Given the description of an element on the screen output the (x, y) to click on. 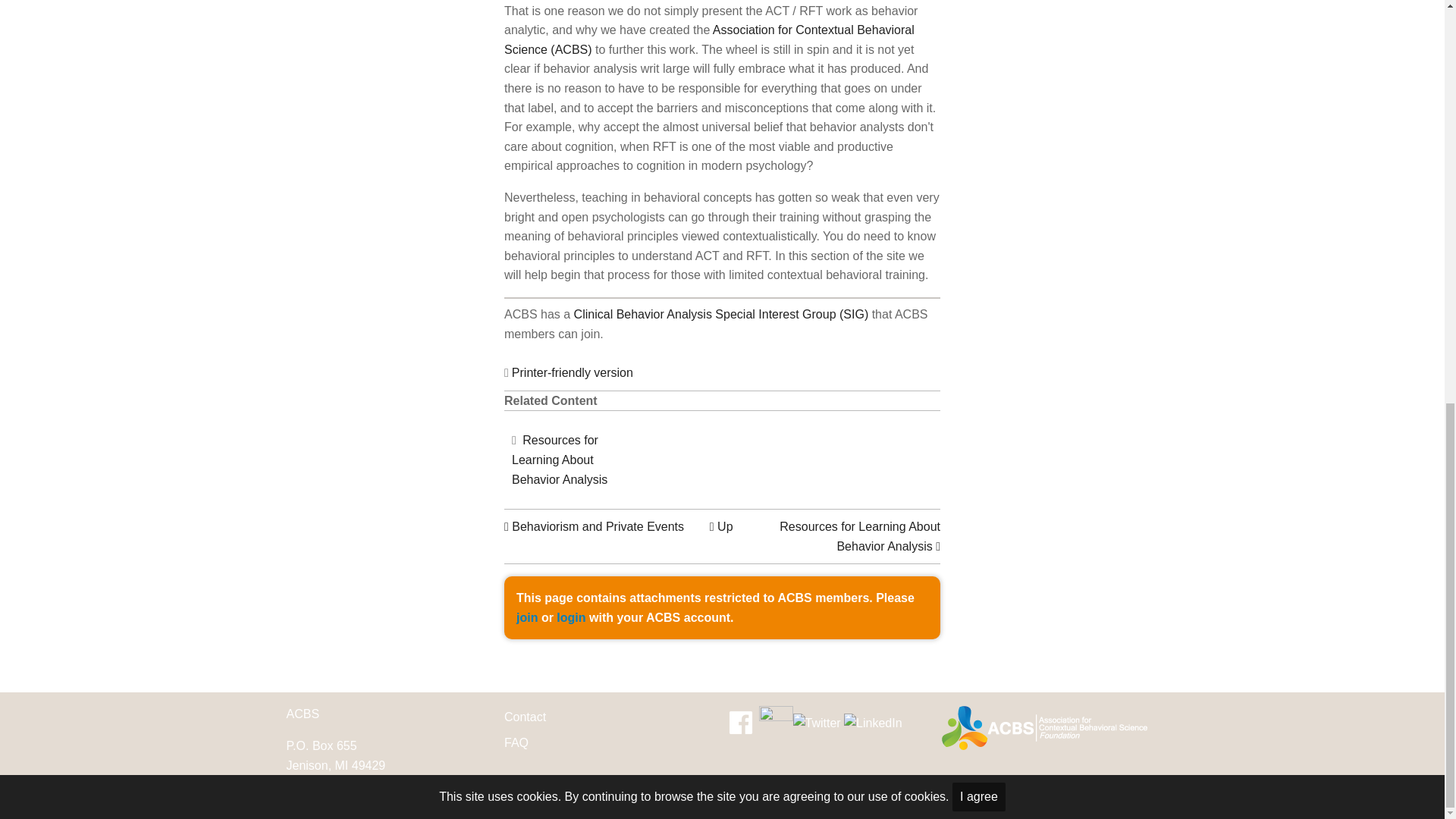
Go to next page (859, 536)
Go to previous page (593, 526)
Go to parent page (721, 526)
